Given the description of an element on the screen output the (x, y) to click on. 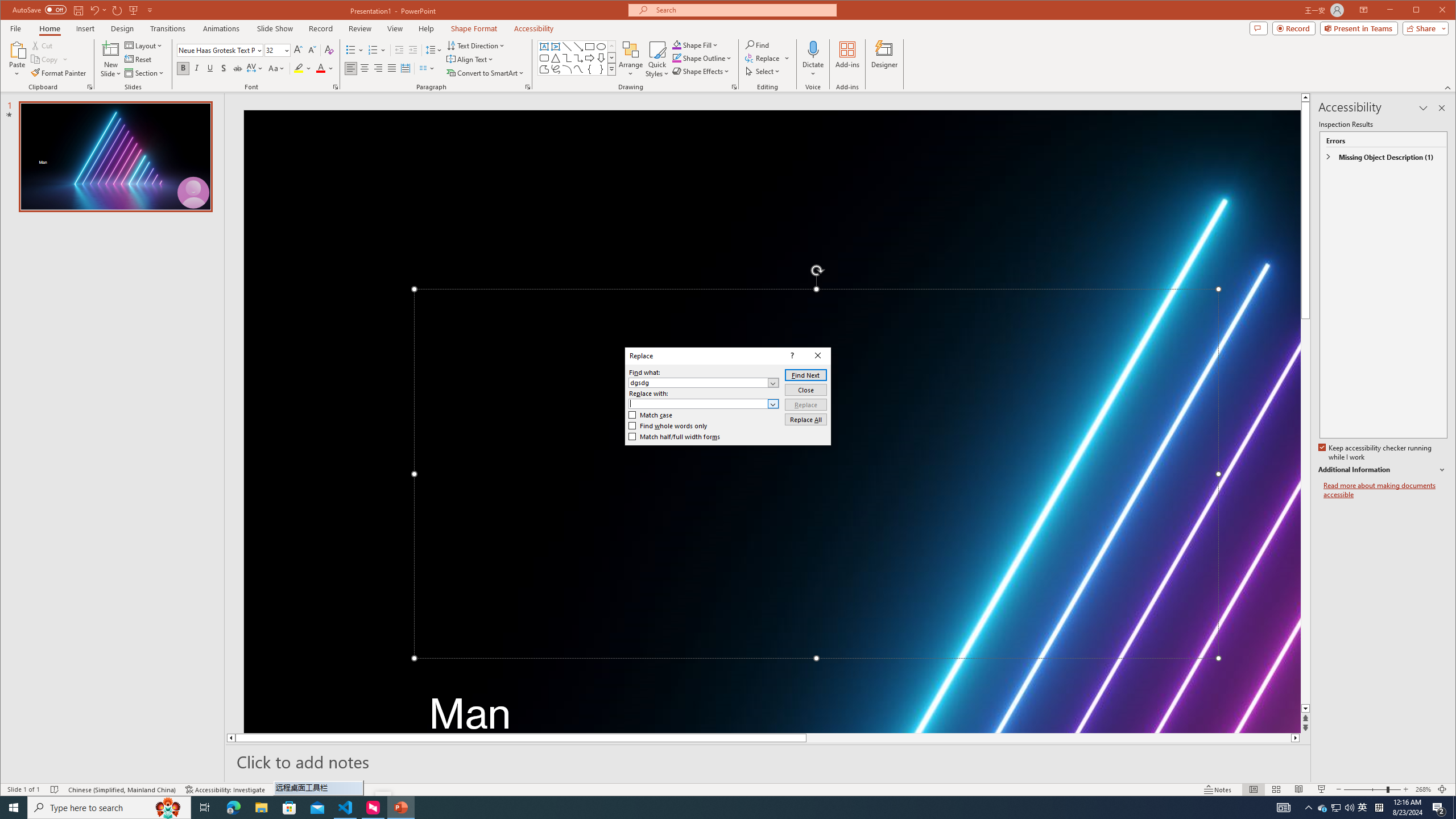
Match half/full width forms (674, 436)
